Given the description of an element on the screen output the (x, y) to click on. 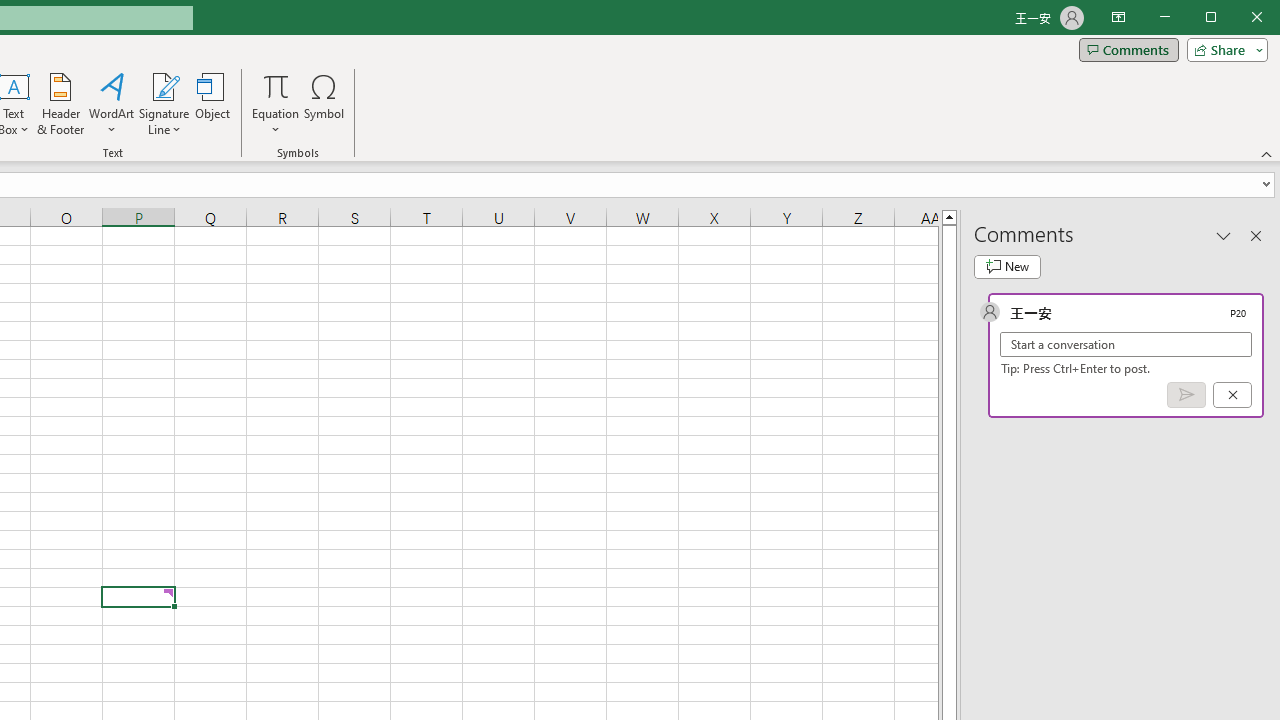
Share (1223, 49)
Ribbon Display Options (1118, 17)
Post comment (Ctrl + Enter) (1186, 395)
Start a conversation (1126, 344)
Signature Line (164, 86)
Collapse the Ribbon (1267, 154)
Close (1261, 18)
Equation (275, 104)
Object... (213, 104)
Comments (1128, 49)
Symbol... (324, 104)
Line up (948, 216)
Header & Footer... (60, 104)
Task Pane Options (1224, 235)
